Given the description of an element on the screen output the (x, y) to click on. 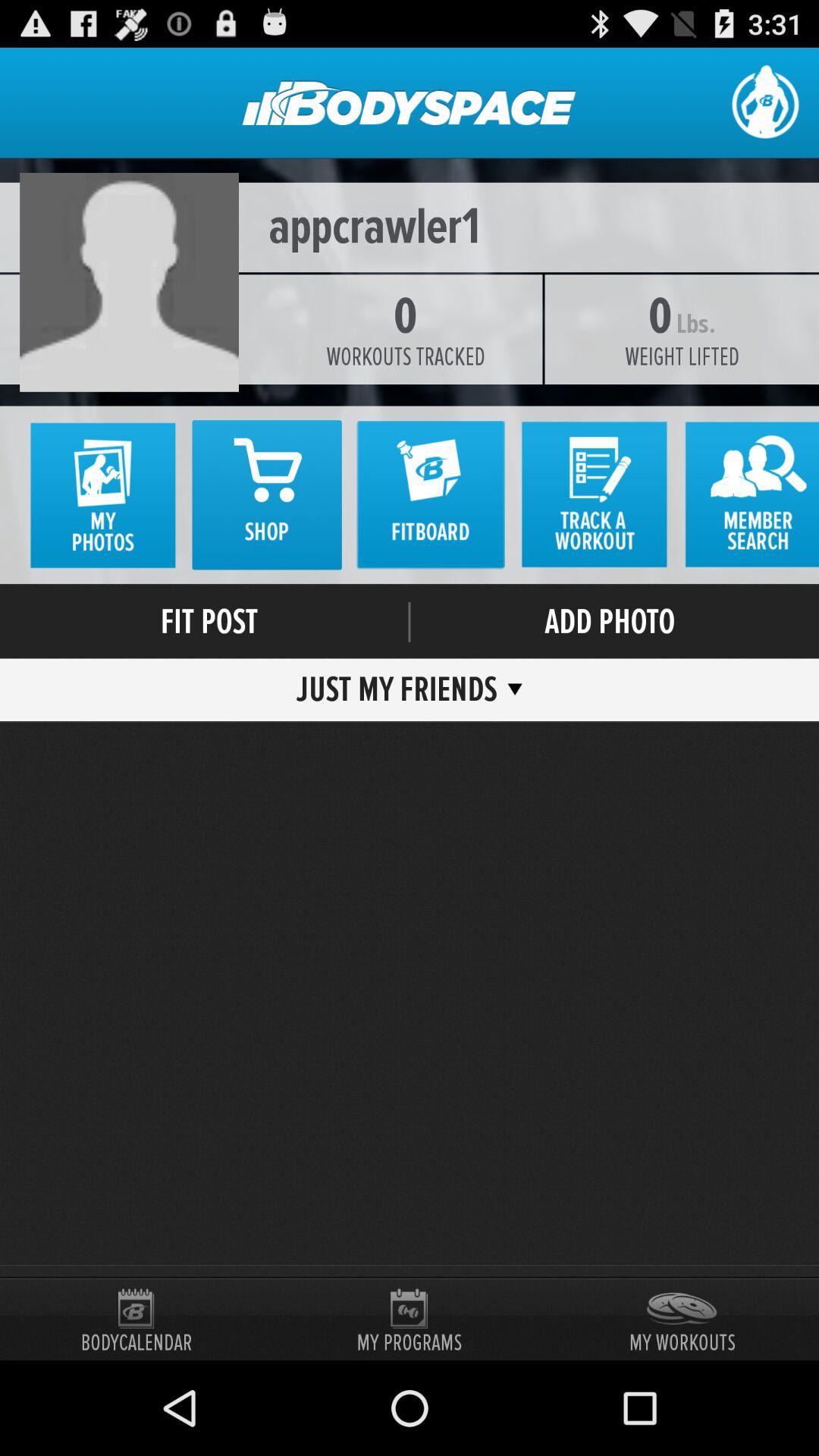
tap item below lbs. item (681, 356)
